Given the description of an element on the screen output the (x, y) to click on. 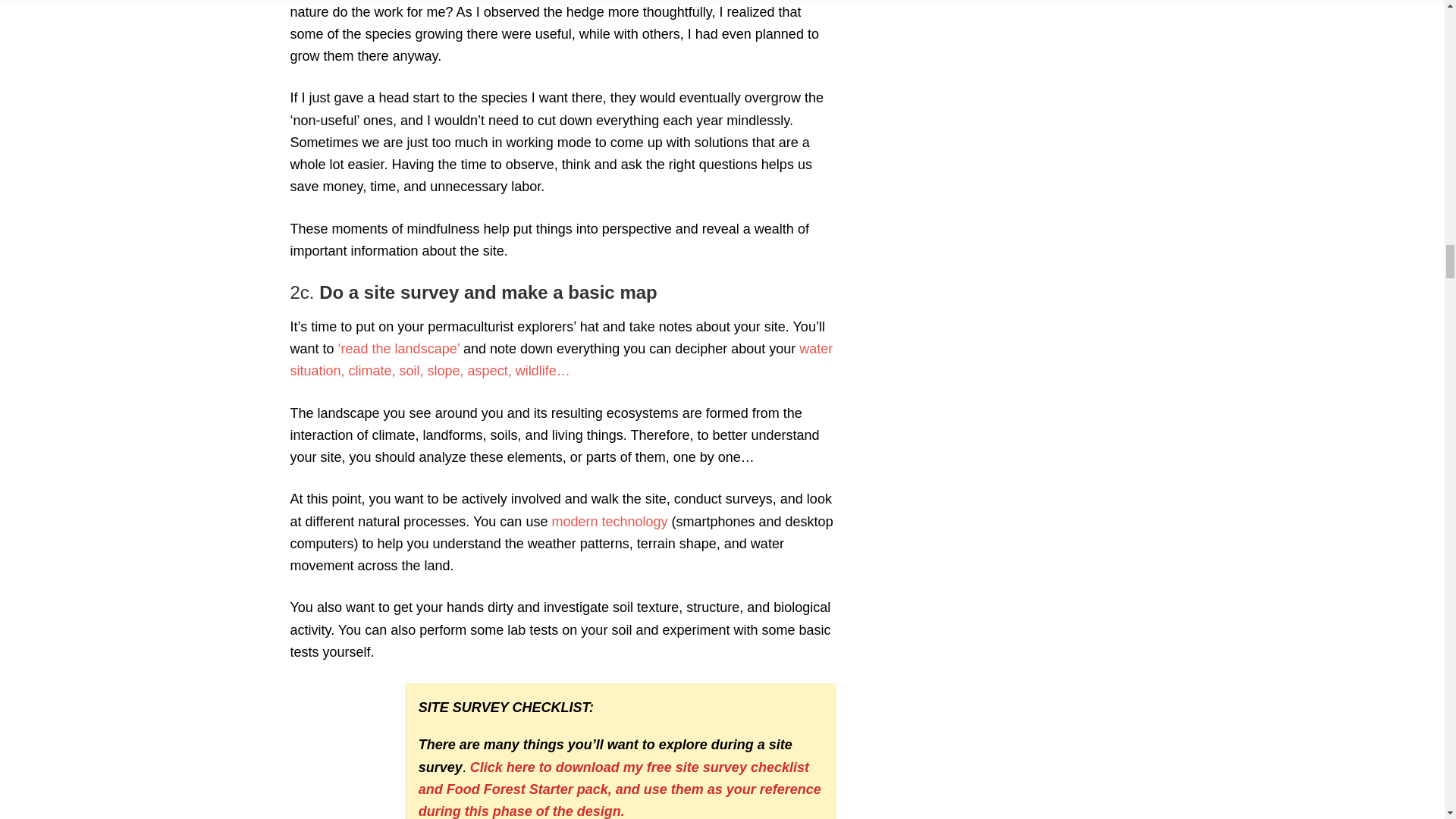
modern technology (608, 521)
